Given the description of an element on the screen output the (x, y) to click on. 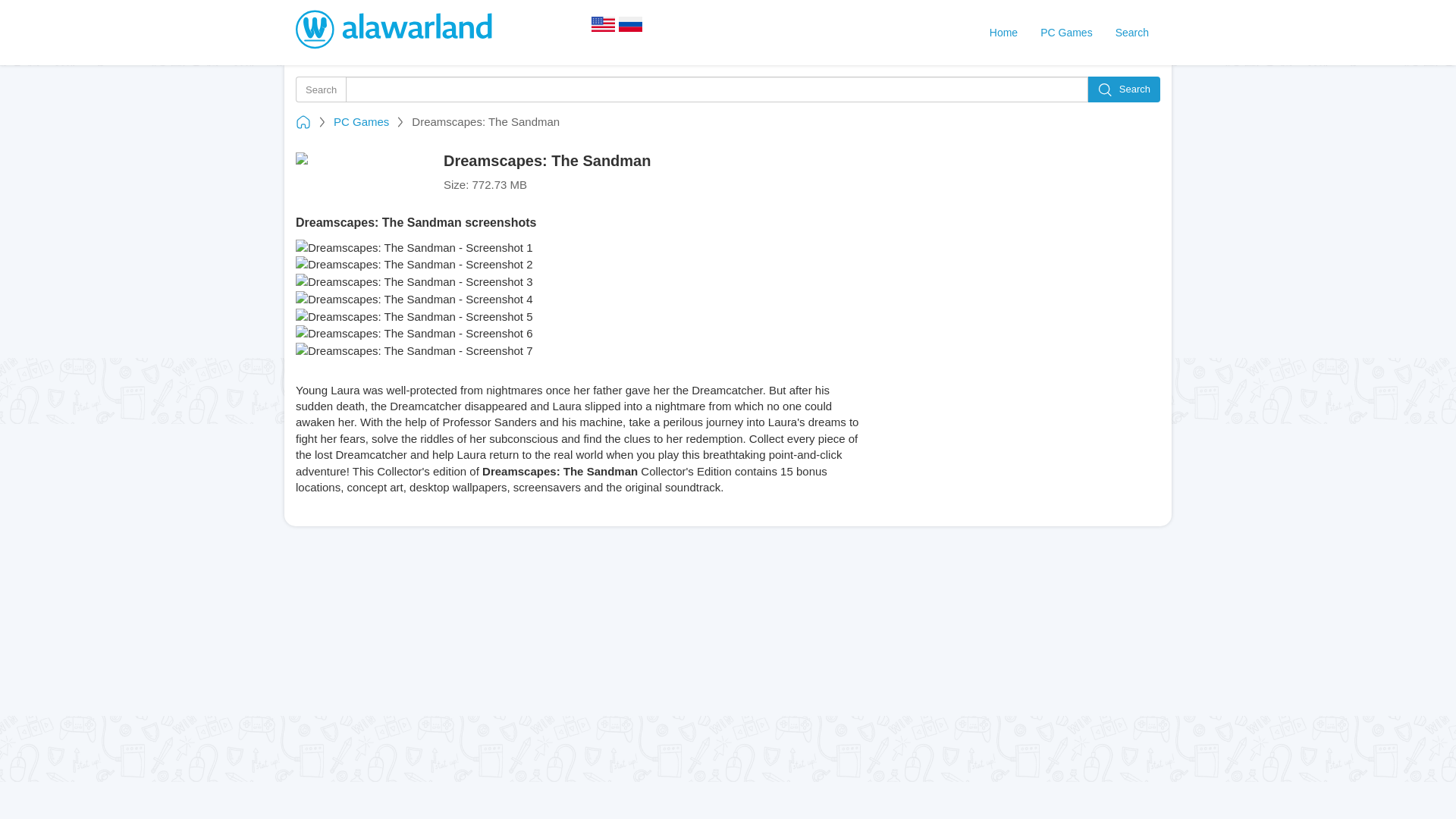
PC Games (360, 121)
Home (1003, 32)
Dreamscapes: The Sandman - Screenshot 7 (413, 350)
Search (1131, 32)
Go to AlawarLand RUS (630, 28)
Dreamscapes: The Sandman - Screenshot 4 (413, 299)
Dreamscapes: The Sandman - Screenshot 3 (413, 281)
We here (603, 28)
Dreamscapes: The Sandman - Screenshot 5 (413, 316)
Dreamscapes: The Sandman - Screenshot 6 (413, 333)
